Given the description of an element on the screen output the (x, y) to click on. 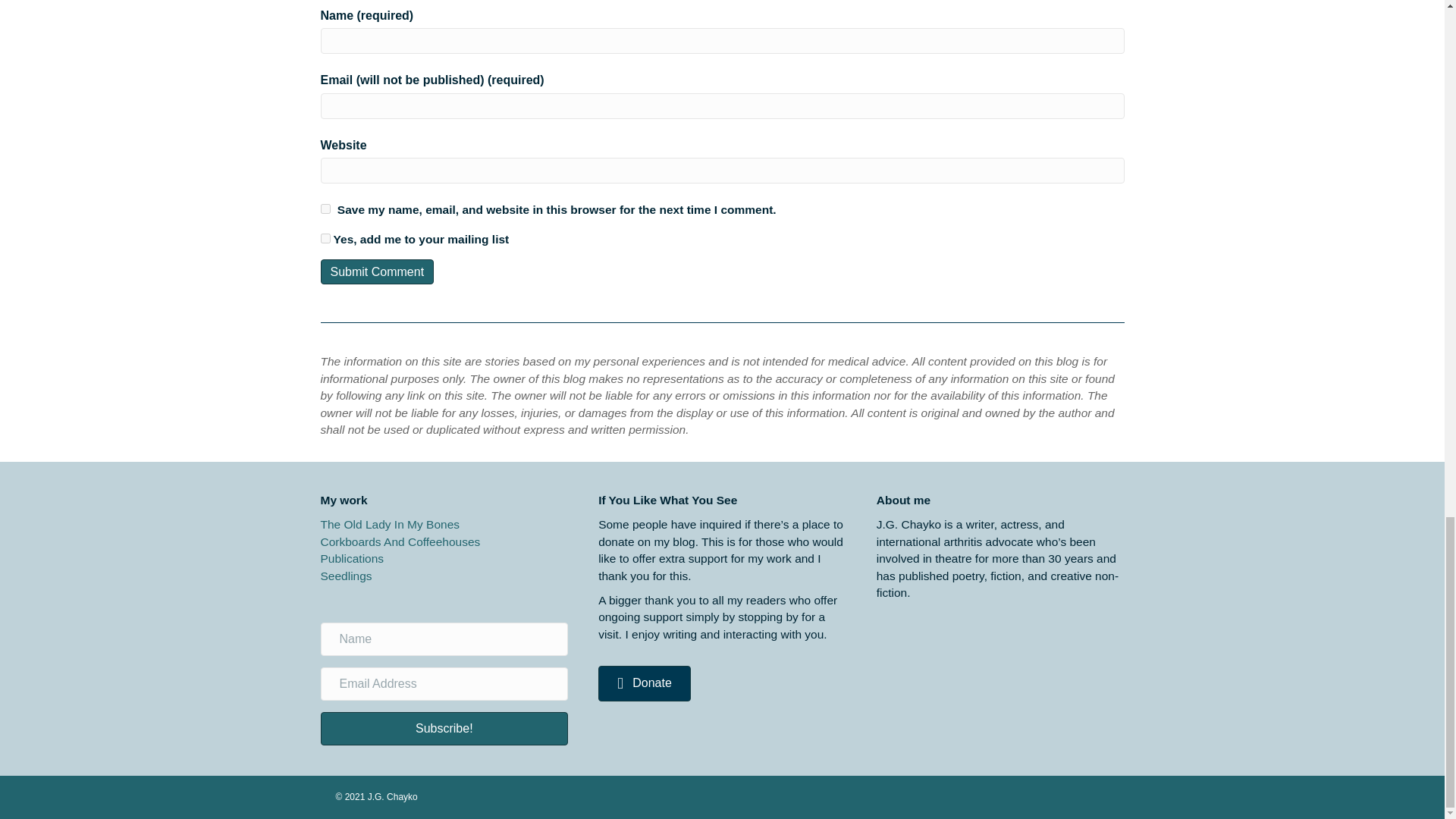
Publications (352, 558)
Submit Comment (376, 271)
Corkboards And Coffeehouses (400, 541)
Donate (644, 683)
1 (325, 238)
Submit Comment (376, 271)
The Old Lady In My Bones (390, 523)
Seedlings (345, 575)
Subscribe! (443, 728)
yes (325, 208)
